Given the description of an element on the screen output the (x, y) to click on. 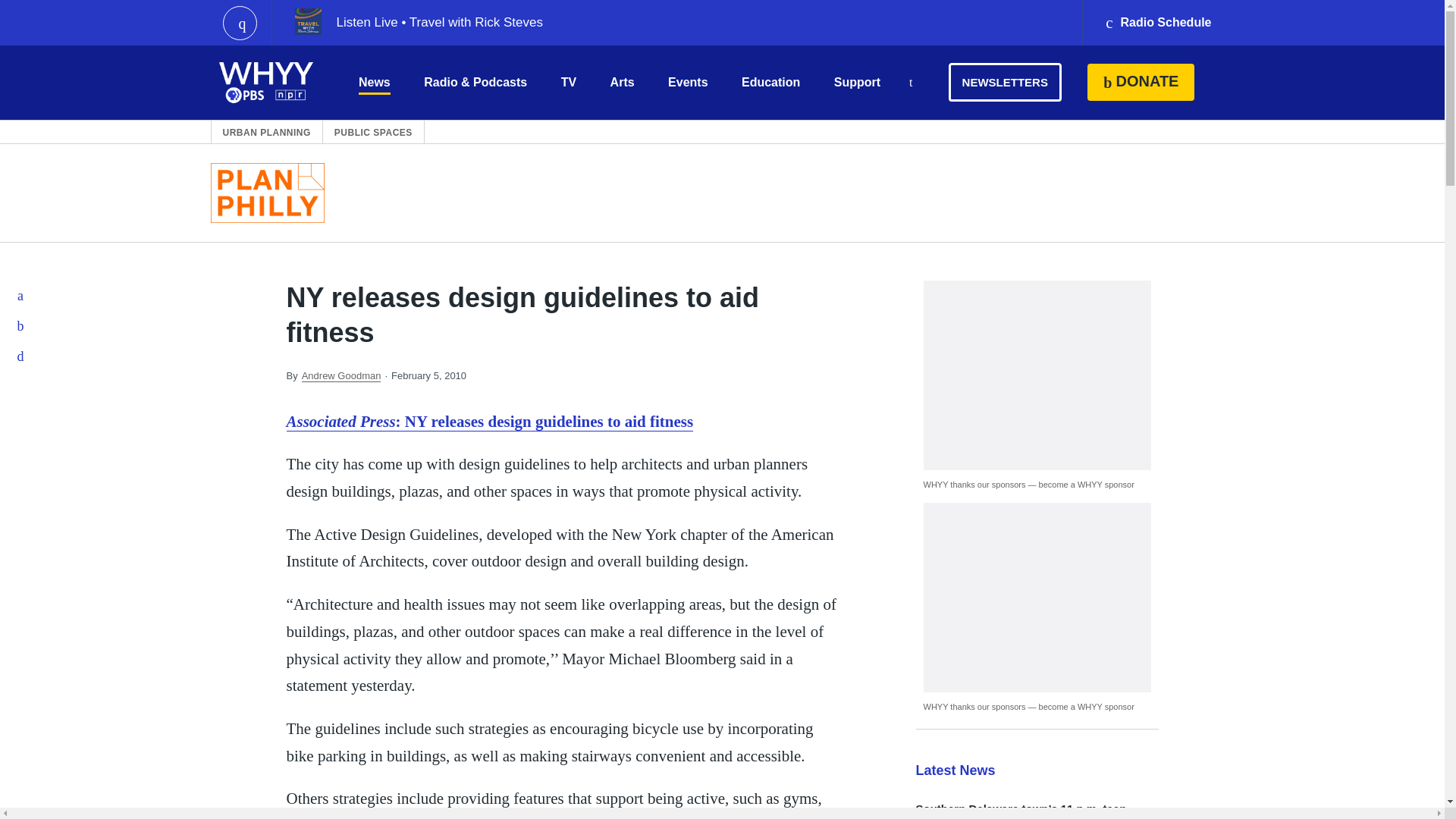
Email (21, 356)
Facebook (21, 295)
URBAN PLANNING (266, 132)
PUBLIC SPACES (373, 132)
Search (910, 83)
WHYY (266, 82)
Twitter (21, 326)
plan-philly-masthead-sm (267, 192)
Radio Schedule (1157, 22)
